Given the description of an element on the screen output the (x, y) to click on. 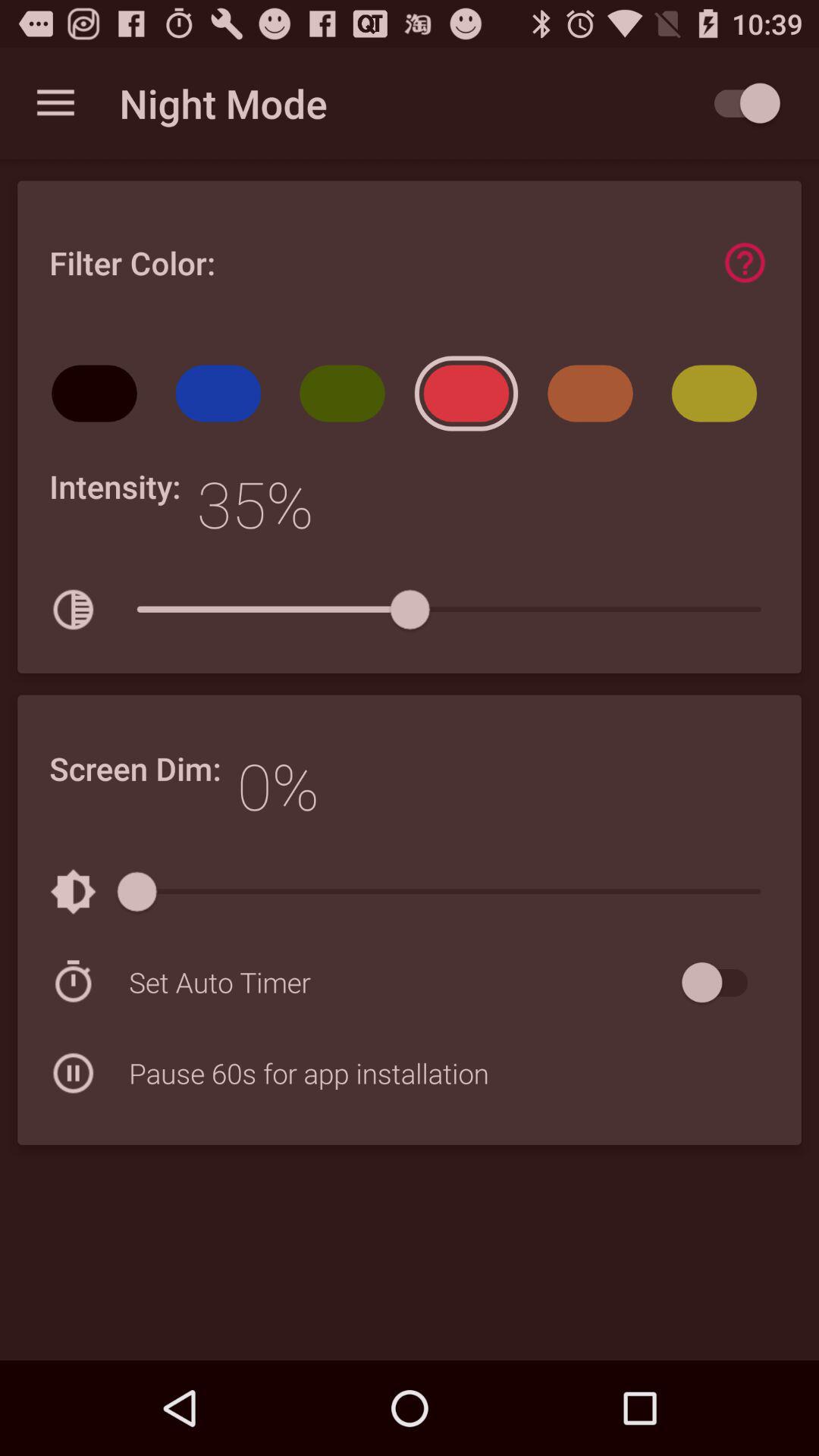
toggle auto timer (722, 982)
